Given the description of an element on the screen output the (x, y) to click on. 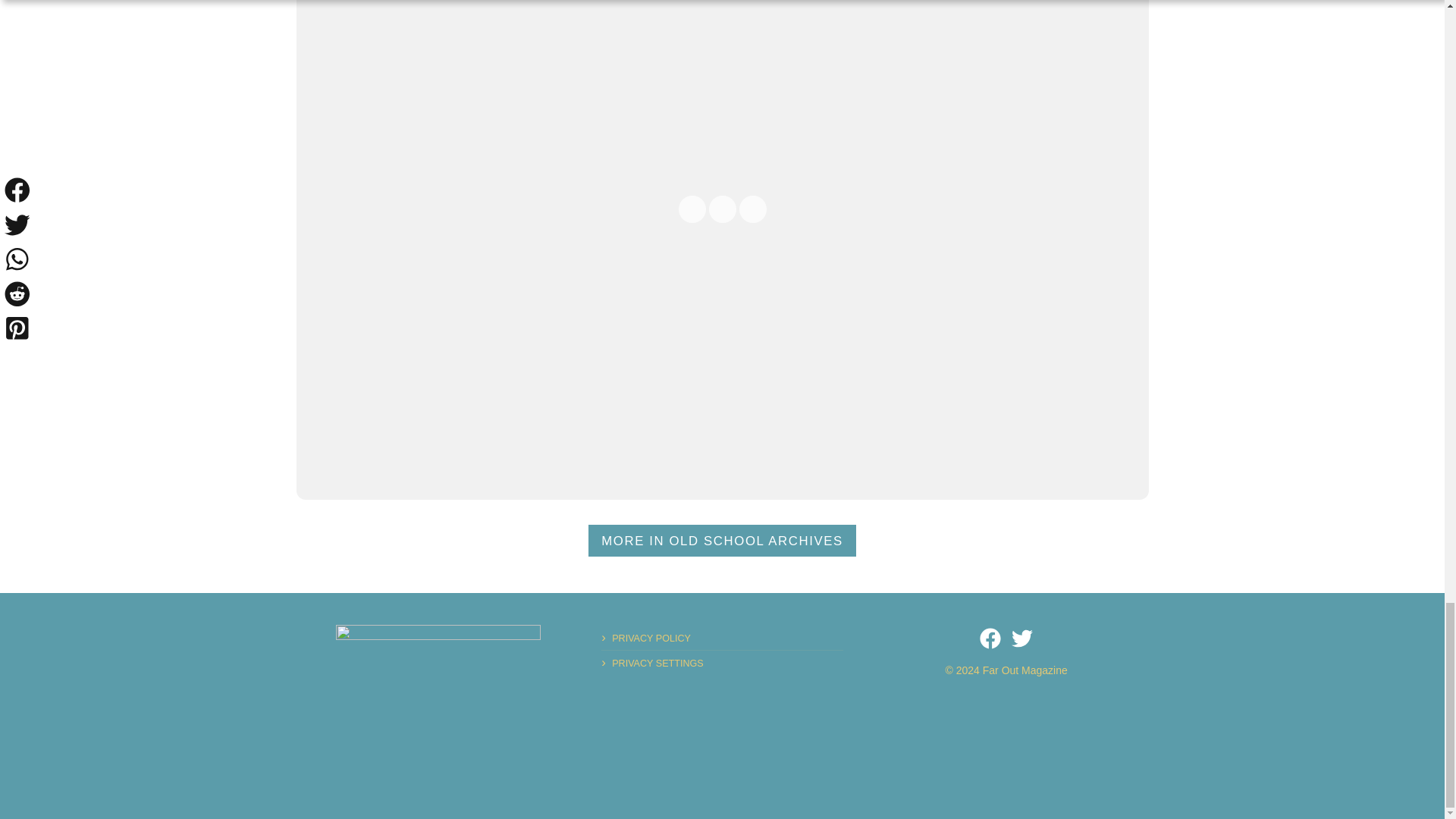
Hip Hop Hero on Facebook (990, 638)
Hip Hop Hero (438, 673)
Hip Hop Hero on Twitter (1021, 638)
More in Old School Archives (722, 540)
